Given the description of an element on the screen output the (x, y) to click on. 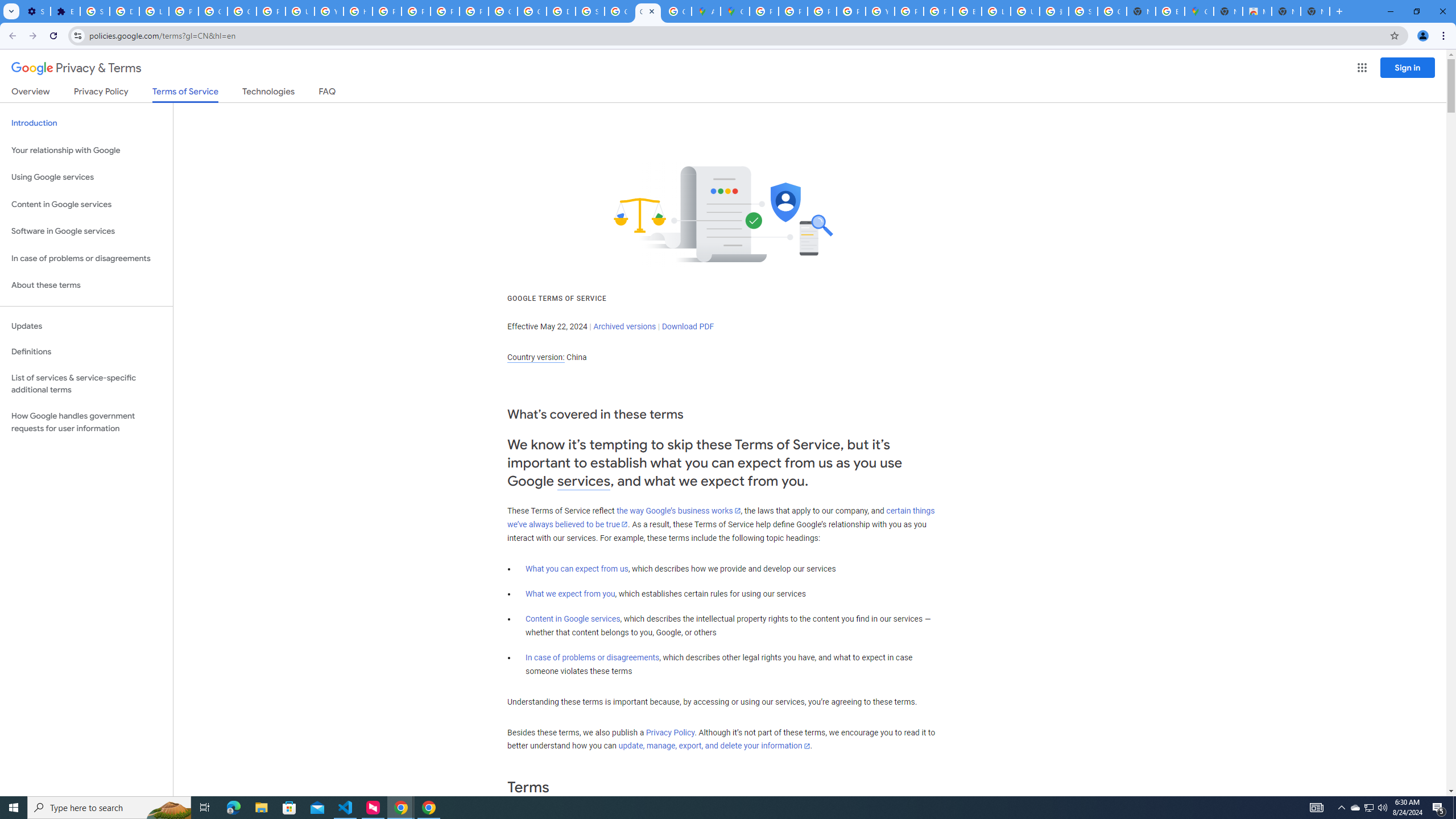
Google Account Help (212, 11)
What you can expect from us (576, 568)
Your relationship with Google (86, 150)
Privacy Help Center - Policies Help (792, 11)
